Given the description of an element on the screen output the (x, y) to click on. 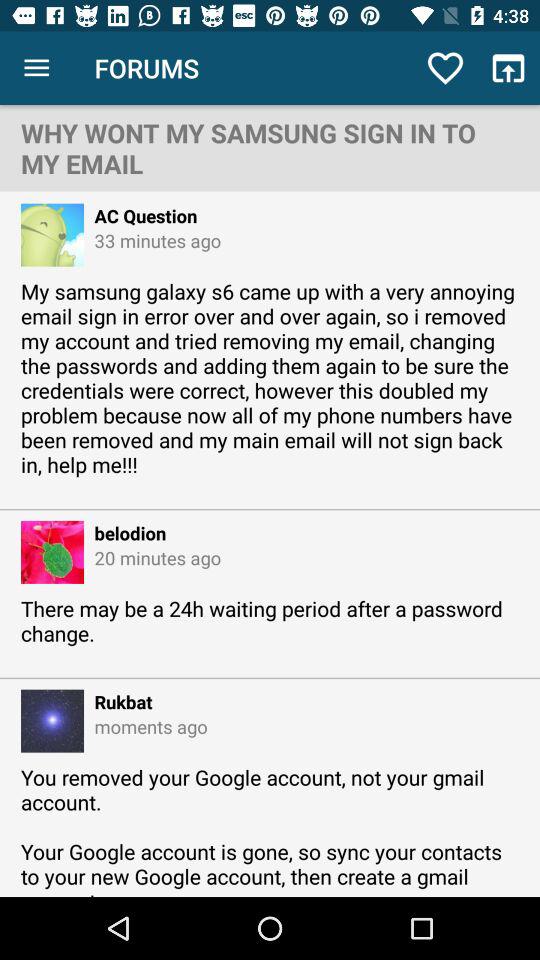
select the moments ago icon (145, 726)
